Given the description of an element on the screen output the (x, y) to click on. 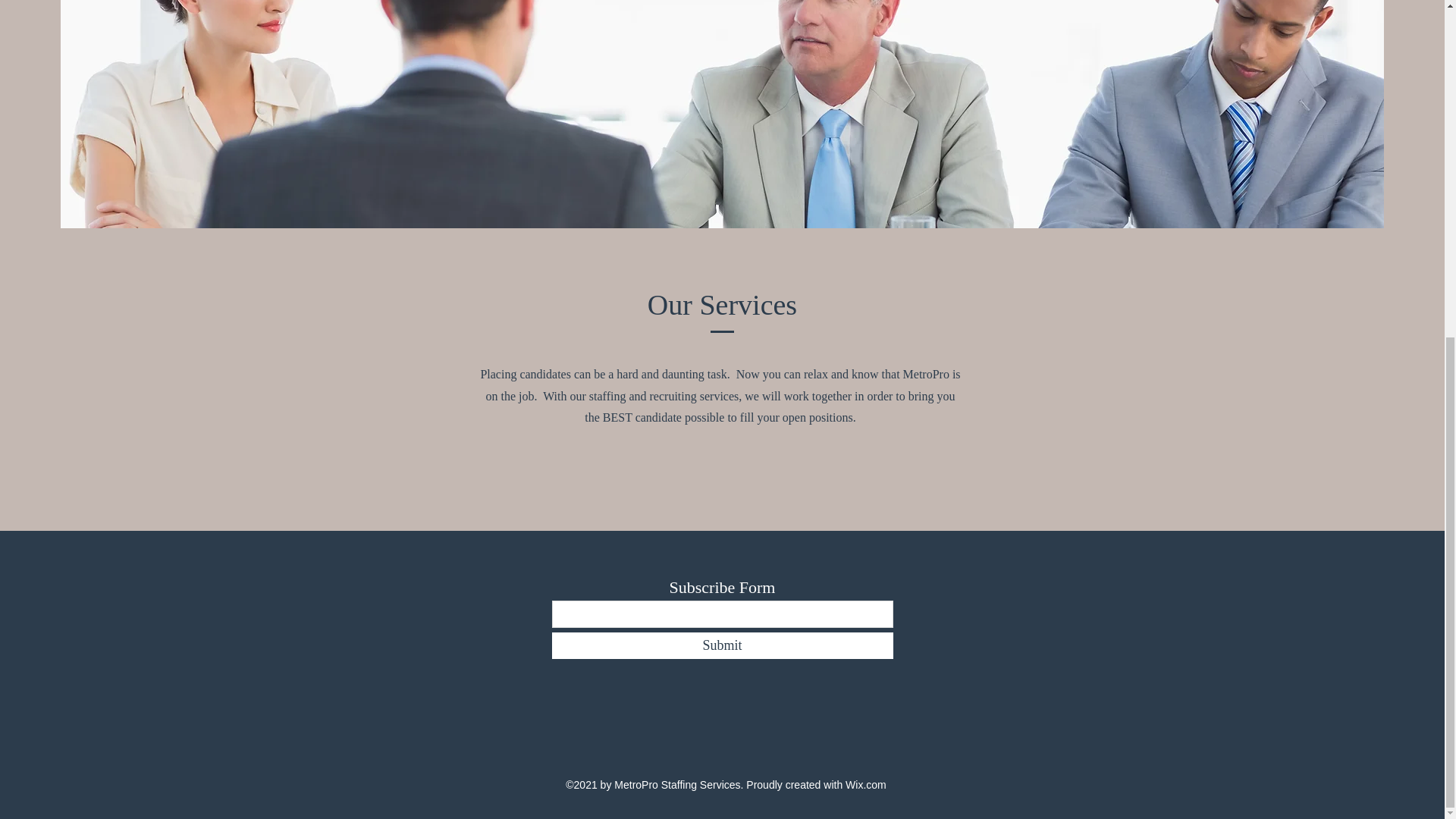
Submit (722, 645)
